Given the description of an element on the screen output the (x, y) to click on. 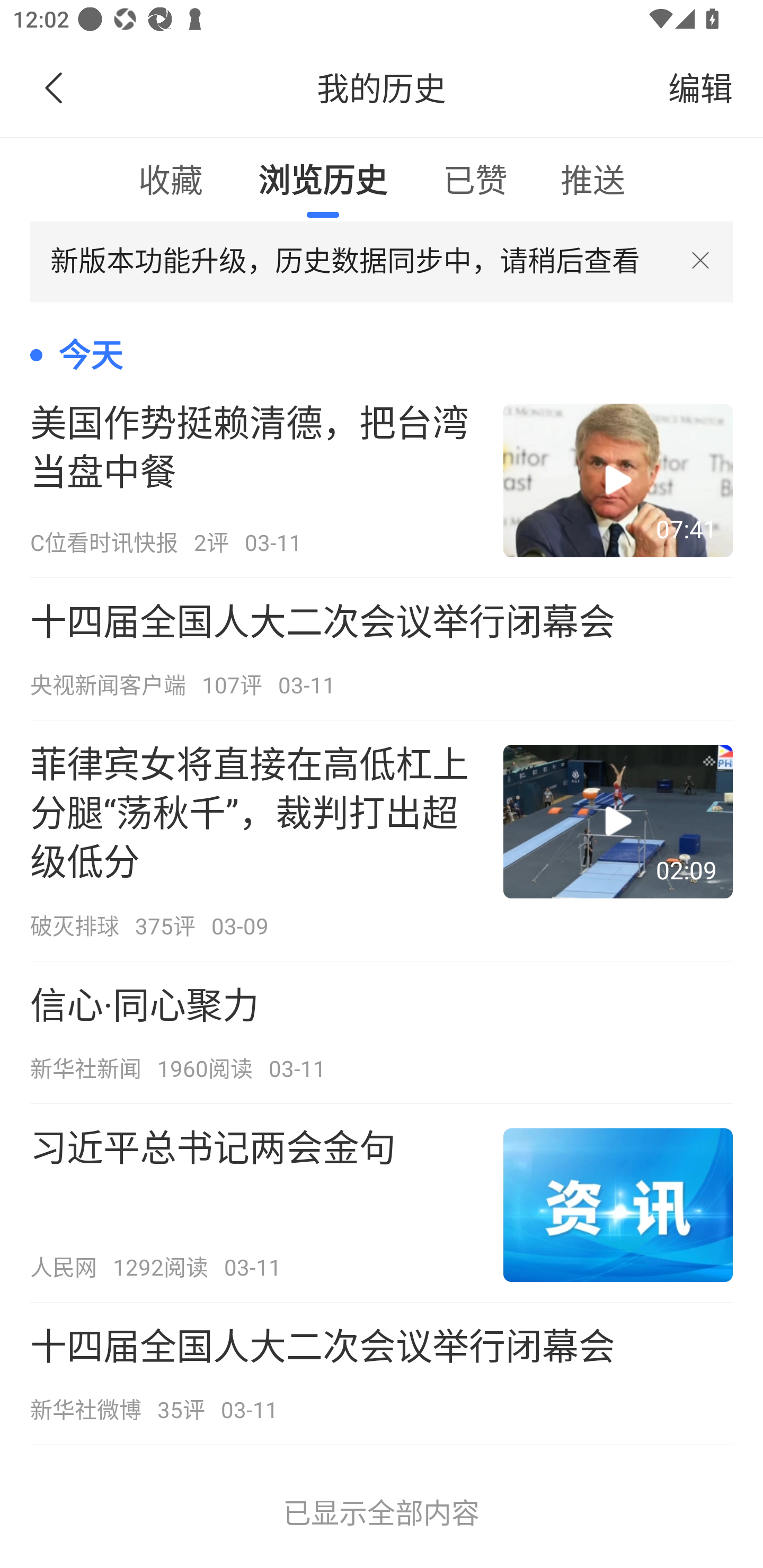
返回，可点击 (49, 87)
编辑，可点击 (700, 87)
收藏，可选中 (170, 179)
已选中浏览历史 (322, 179)
已赞，可选中 (475, 179)
推送，可选中 (592, 179)
美国作势挺赖清德，把台湾当盘中餐 (381, 478)
十四届全国人大二次会议举行闭幕会 (381, 648)
菲律宾女将直接在高低杠上分腿“荡秋千”，裁判打出超级低分 (381, 840)
信心·同心聚力 (381, 1032)
习近平总书记两会金句 (381, 1203)
十四届全国人大二次会议举行闭幕会 (381, 1374)
